Given the description of an element on the screen output the (x, y) to click on. 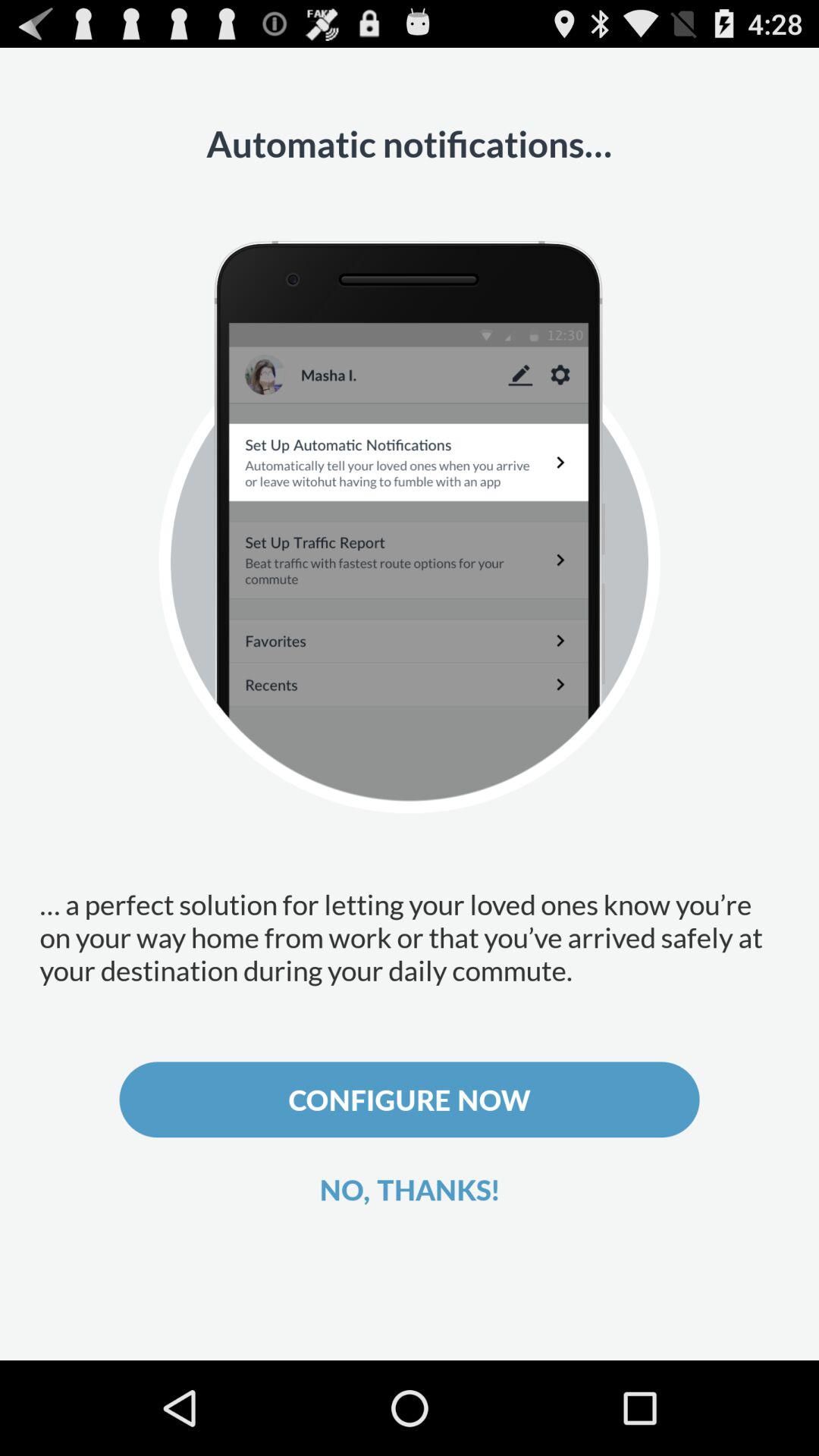
open icon below configure now (409, 1189)
